Given the description of an element on the screen output the (x, y) to click on. 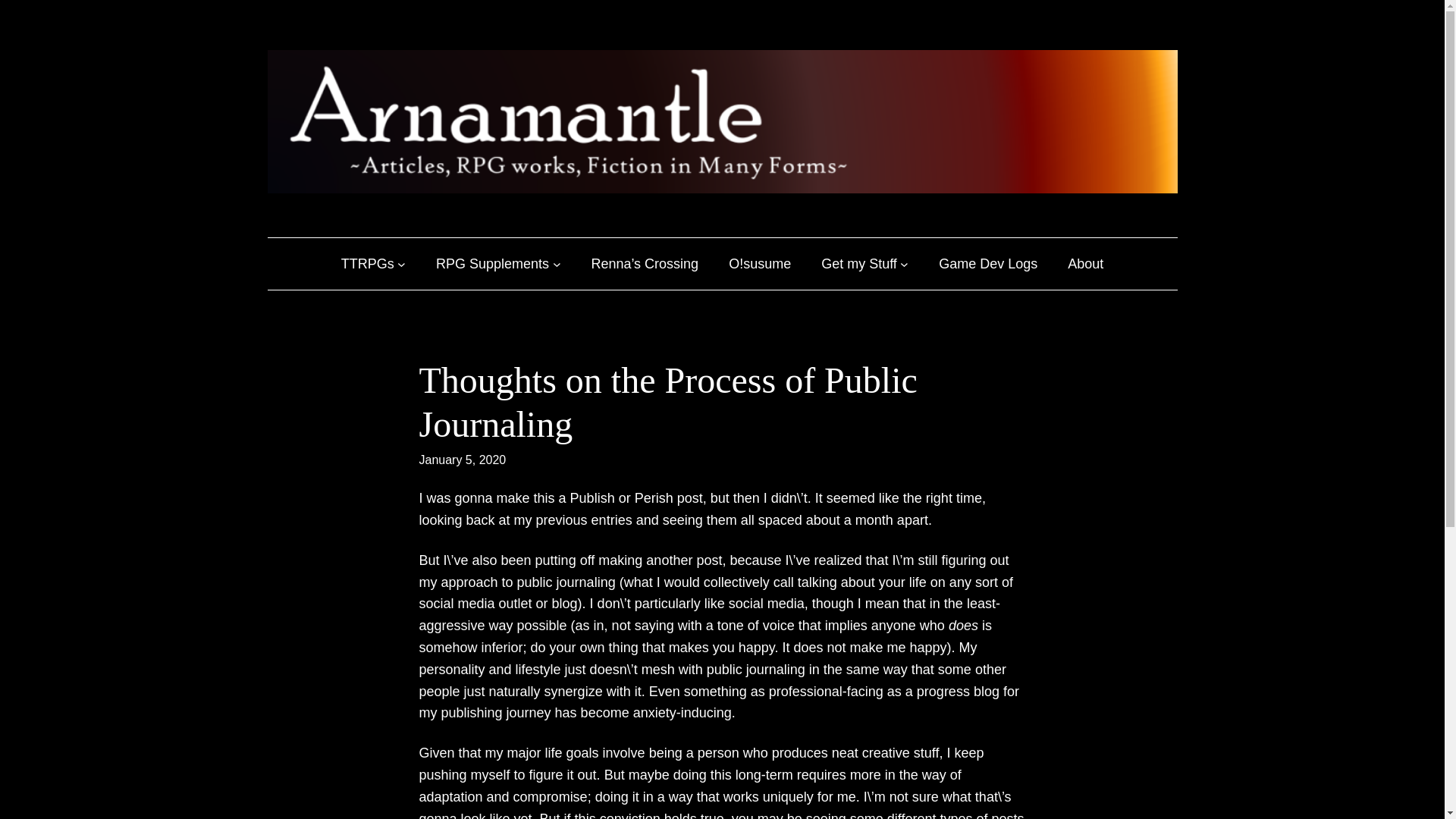
RPG Supplements (491, 264)
Game Dev Logs (987, 264)
TTRPGs (367, 264)
O!susume (759, 264)
About (1085, 264)
Get my Stuff (858, 264)
